Given the description of an element on the screen output the (x, y) to click on. 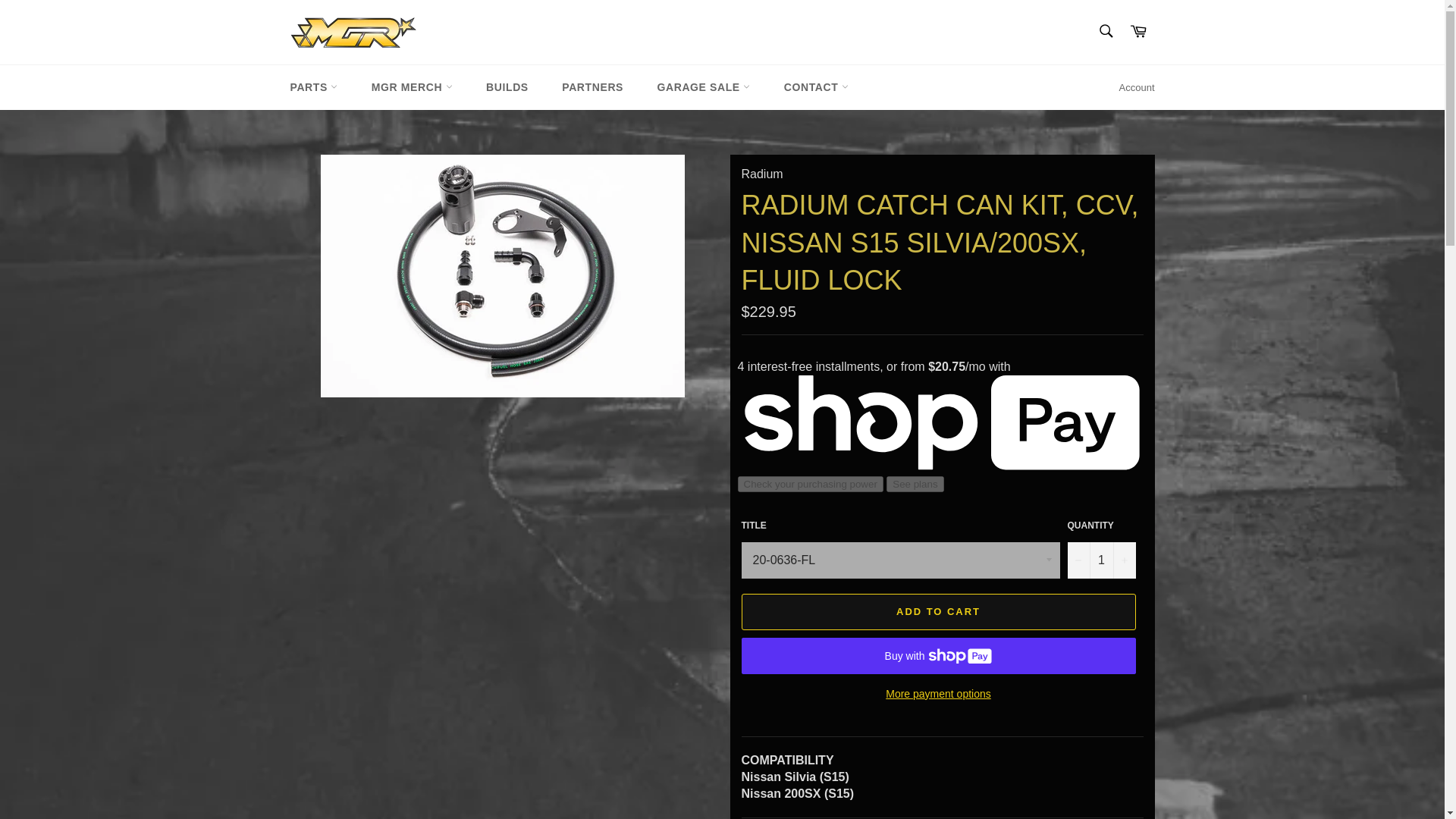
1 (1101, 560)
